Given the description of an element on the screen output the (x, y) to click on. 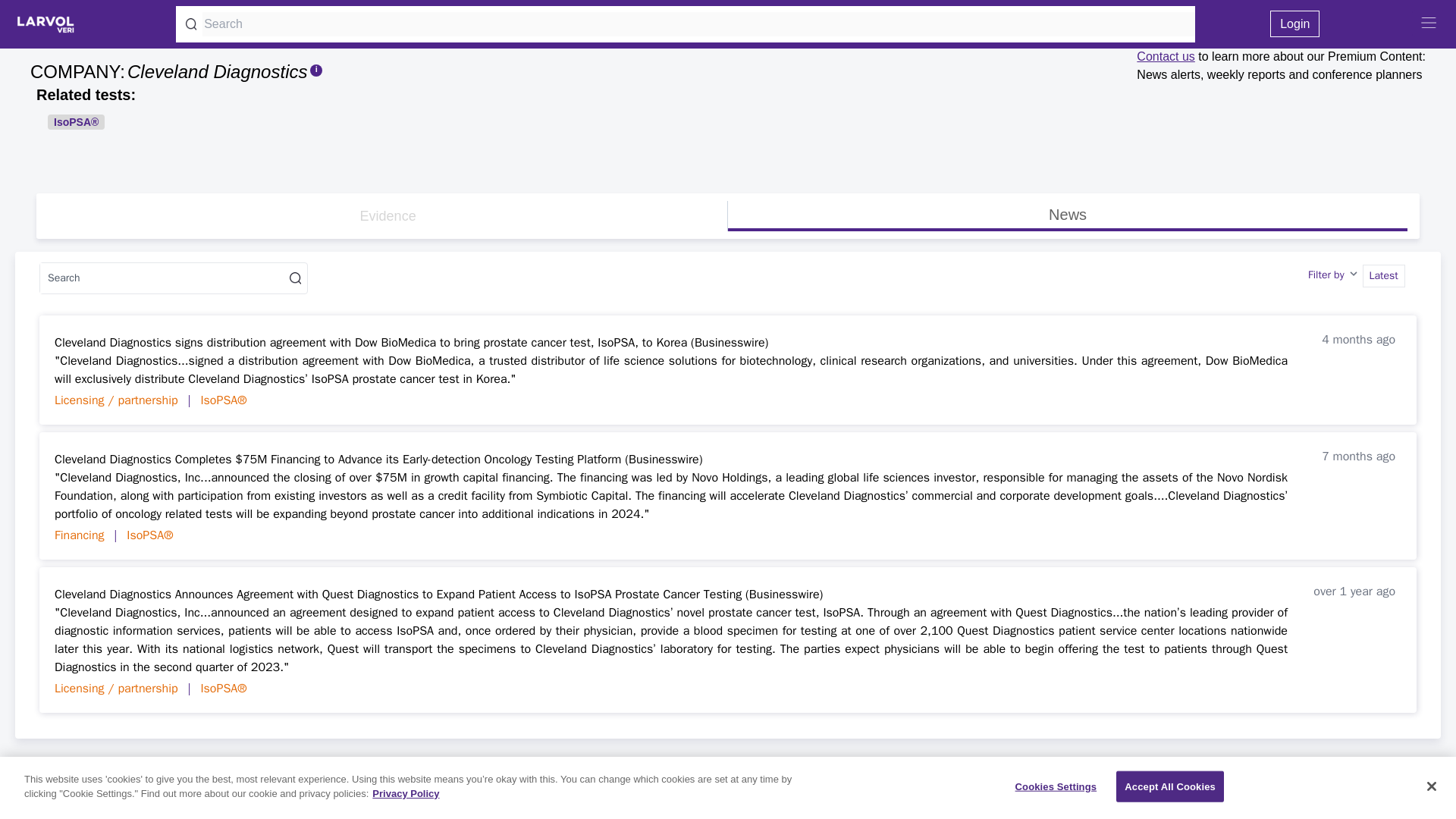
News (1067, 214)
Contact us (1356, 275)
Login (1165, 56)
